Given the description of an element on the screen output the (x, y) to click on. 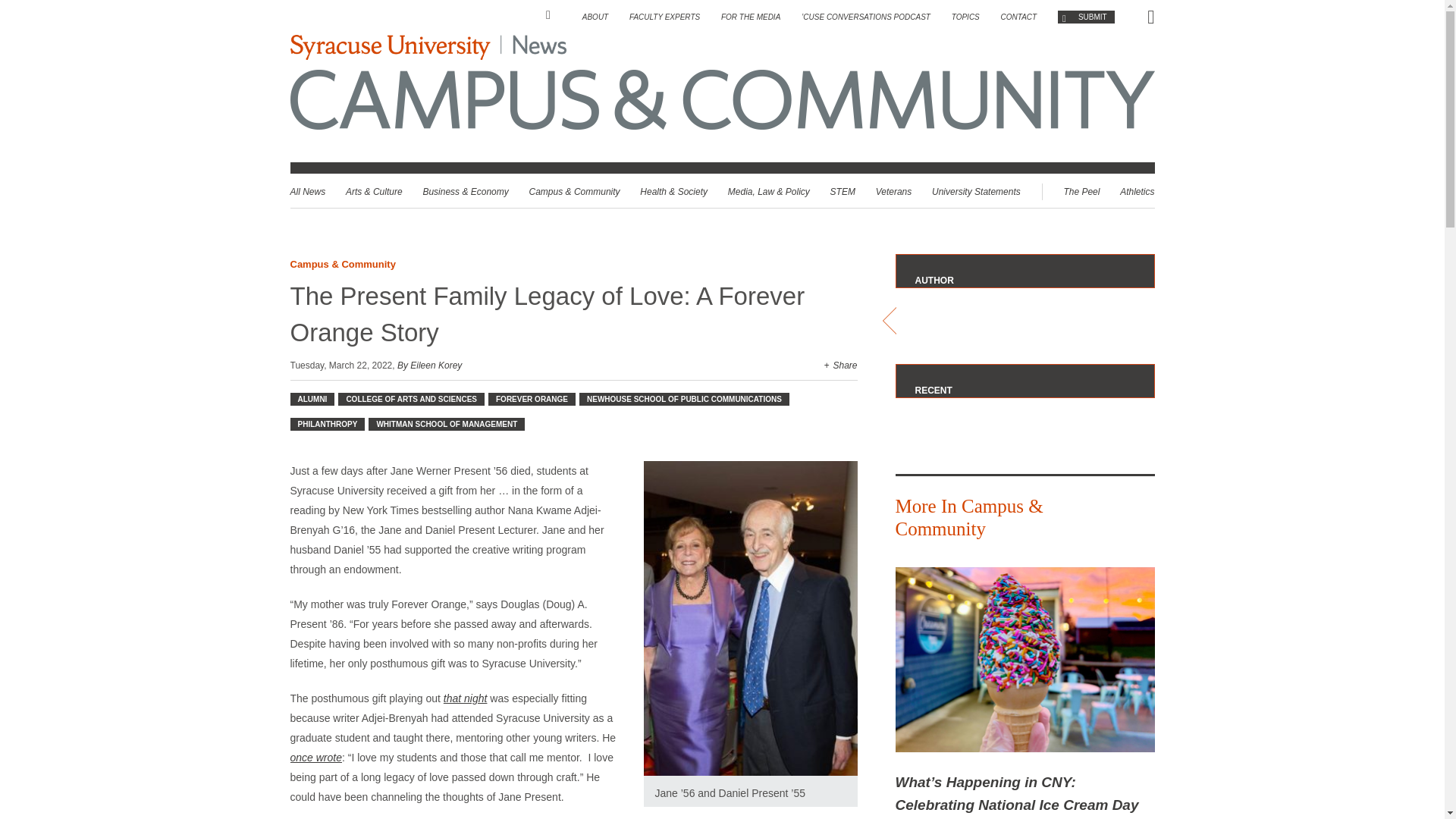
University Statements (975, 191)
All News (306, 191)
Contact (1018, 17)
Syracuse University News (427, 47)
Home (553, 15)
All News (306, 191)
For The Media (750, 17)
About (595, 17)
Veterans (894, 191)
Topics (965, 17)
The Peel (1080, 191)
CONTACT (1018, 17)
Syracuse University (388, 47)
Syracuse University News (538, 47)
STEM (842, 191)
